Given the description of an element on the screen output the (x, y) to click on. 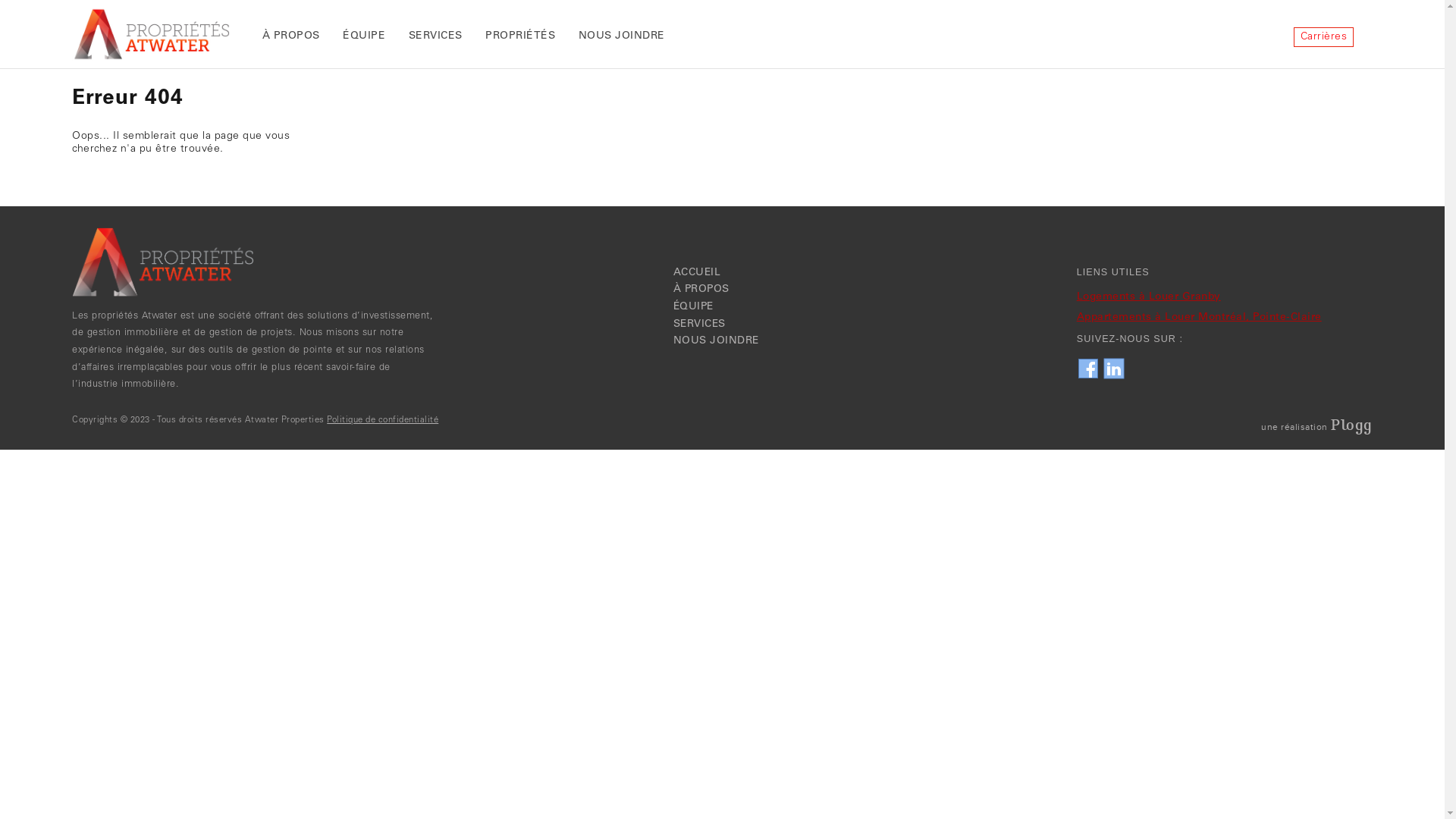
SERVICES Element type: text (435, 36)
ACCUEIL Element type: text (697, 272)
SERVICES Element type: text (699, 324)
NOUS JOINDRE Element type: text (621, 36)
NOUS JOINDRE Element type: text (716, 341)
